Given the description of an element on the screen output the (x, y) to click on. 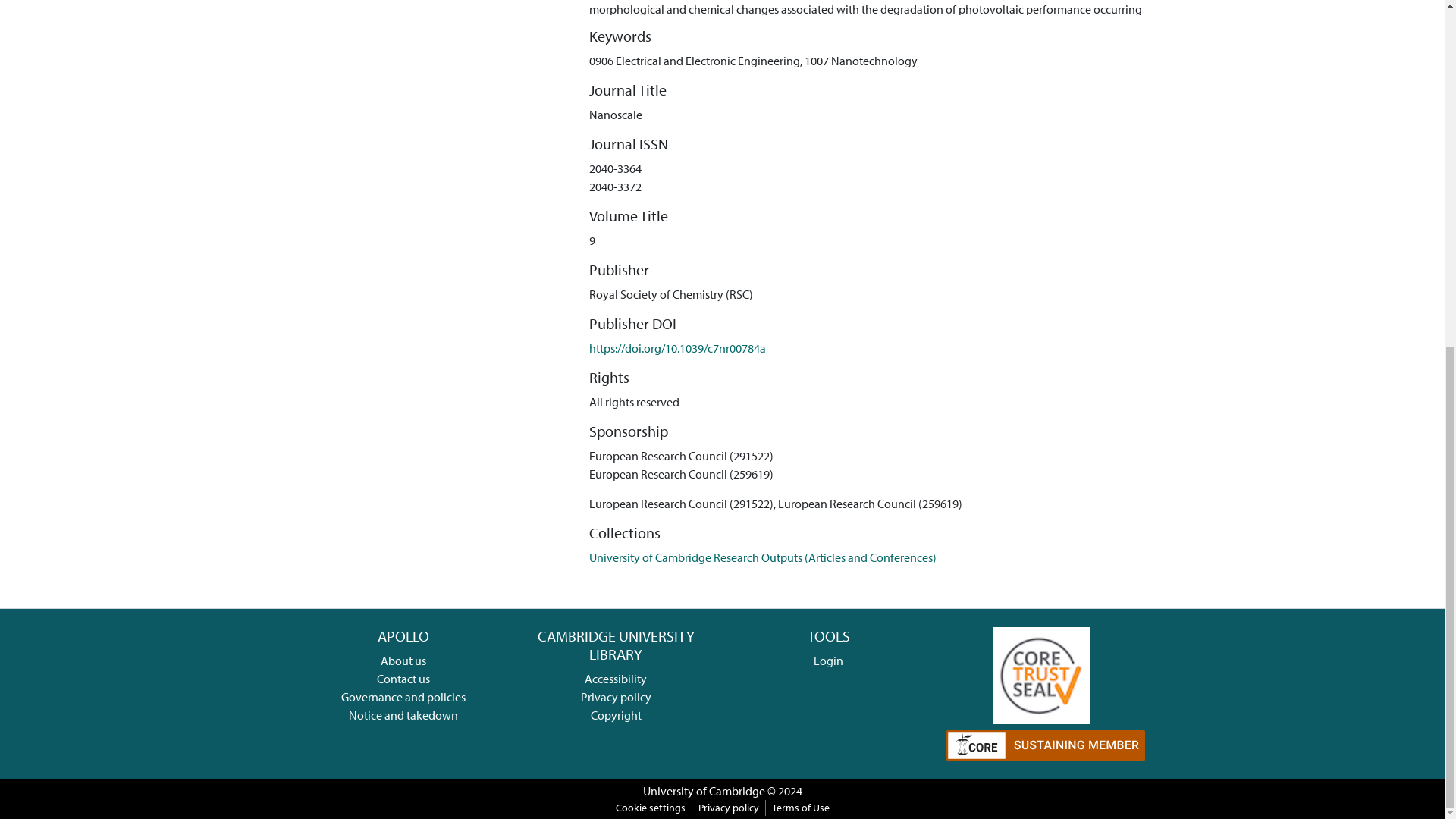
Privacy policy (615, 696)
Accessibility (615, 678)
Apollo CTS full application (1040, 673)
Governance and policies (402, 696)
About us (403, 660)
Notice and takedown (403, 714)
Contact us (403, 678)
